Given the description of an element on the screen output the (x, y) to click on. 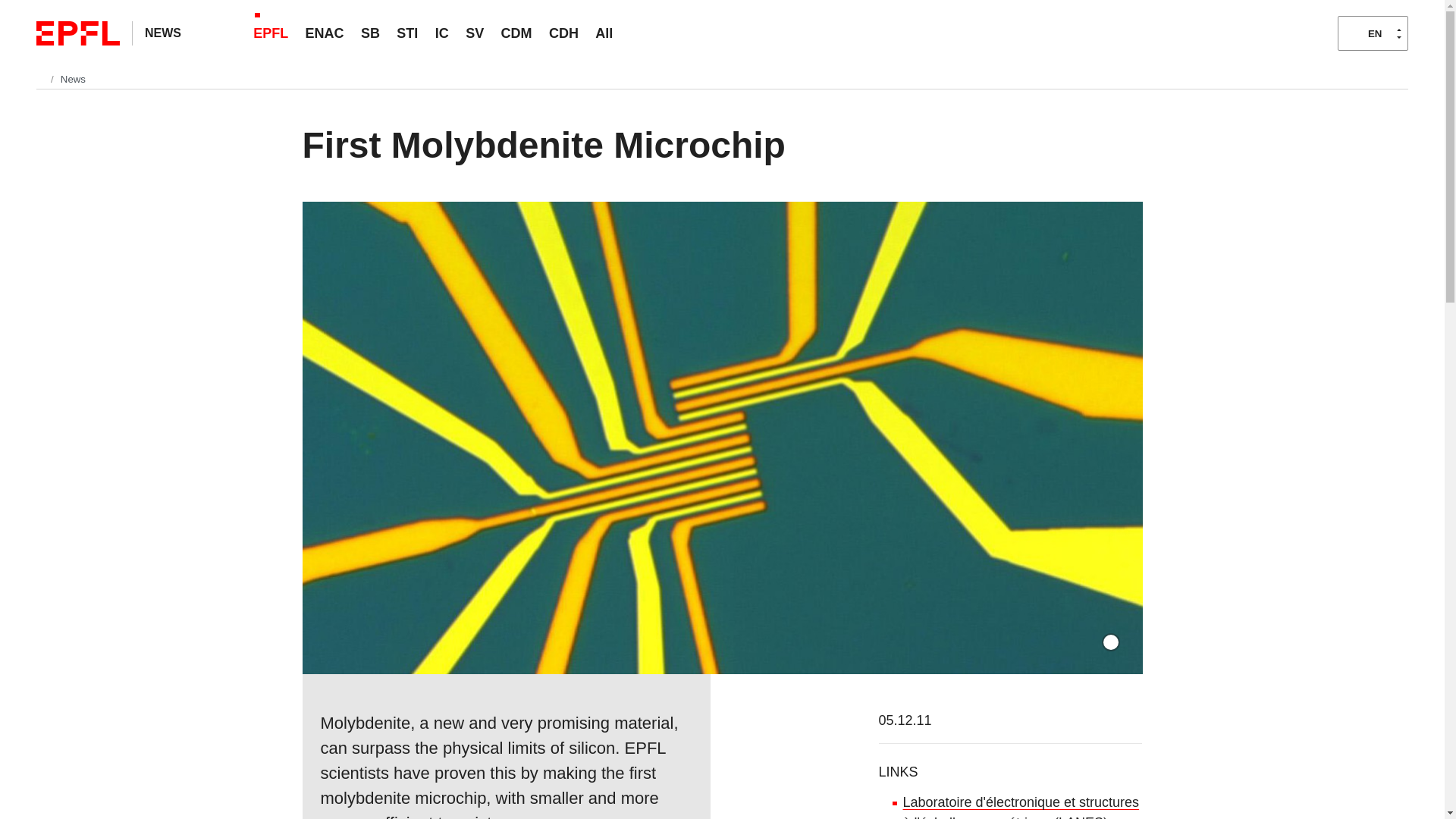
EN (1372, 32)
Home (42, 79)
News (73, 79)
NEWS (162, 32)
